Given the description of an element on the screen output the (x, y) to click on. 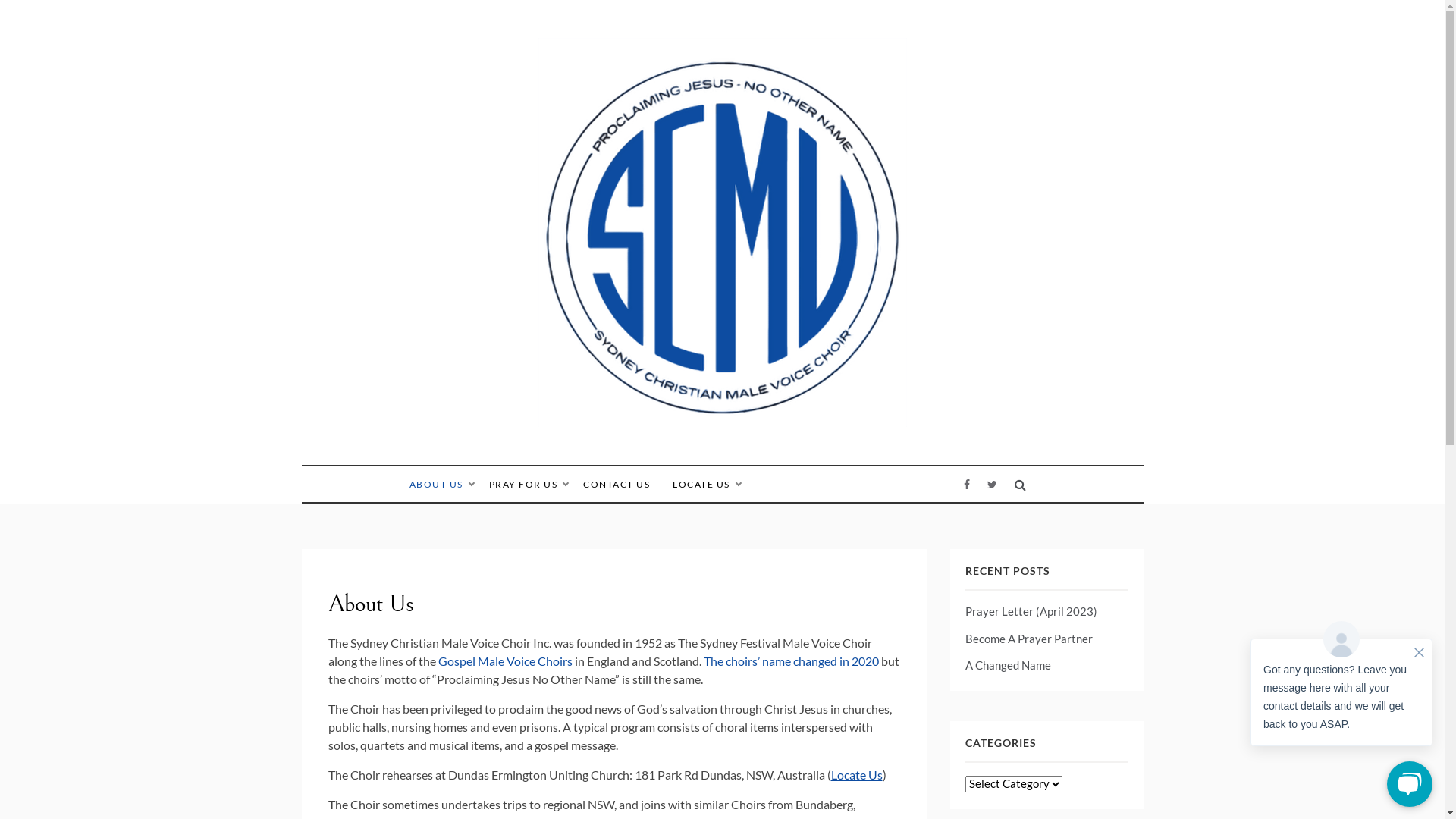
Prayer Letter (April 2023) Element type: text (1030, 611)
Sydney Christian Male Voice Choir Element type: text (696, 449)
ABOUT US Element type: text (445, 484)
A Changed Name Element type: text (1007, 664)
LOCATE US Element type: text (698, 483)
CONTACT US Element type: text (616, 484)
Locate Us Element type: text (856, 774)
Become A Prayer Partner Element type: text (1028, 638)
PRAY FOR US Element type: text (528, 484)
Gospel Male Voice Choirs Element type: text (505, 660)
